Given the description of an element on the screen output the (x, y) to click on. 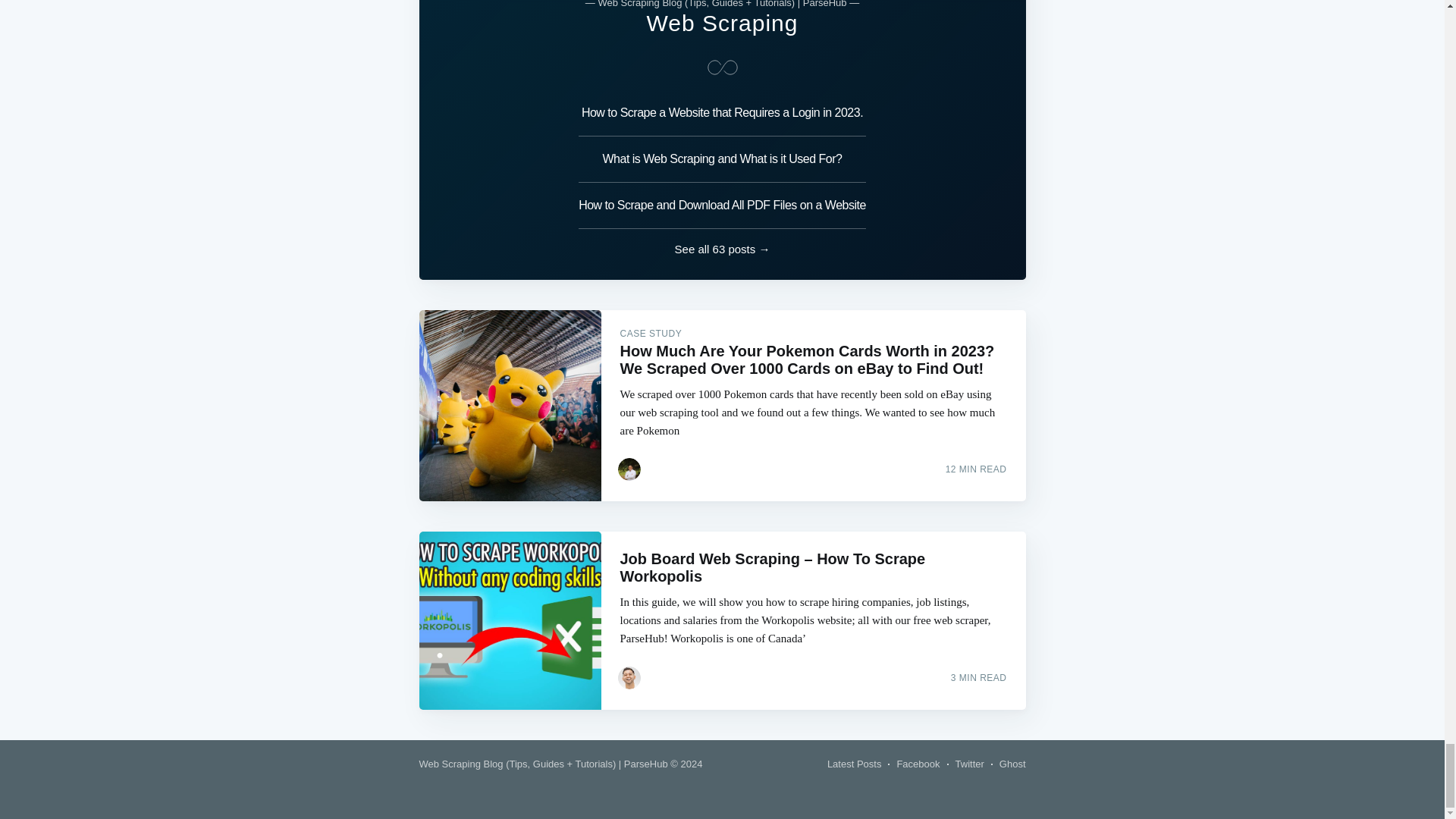
How to Scrape and Download All PDF Files on a Website (722, 205)
What is Web Scraping and What is it Used For? (722, 159)
How to Scrape a Website that Requires a Login in 2023. (722, 116)
Web Scraping (721, 23)
